Given the description of an element on the screen output the (x, y) to click on. 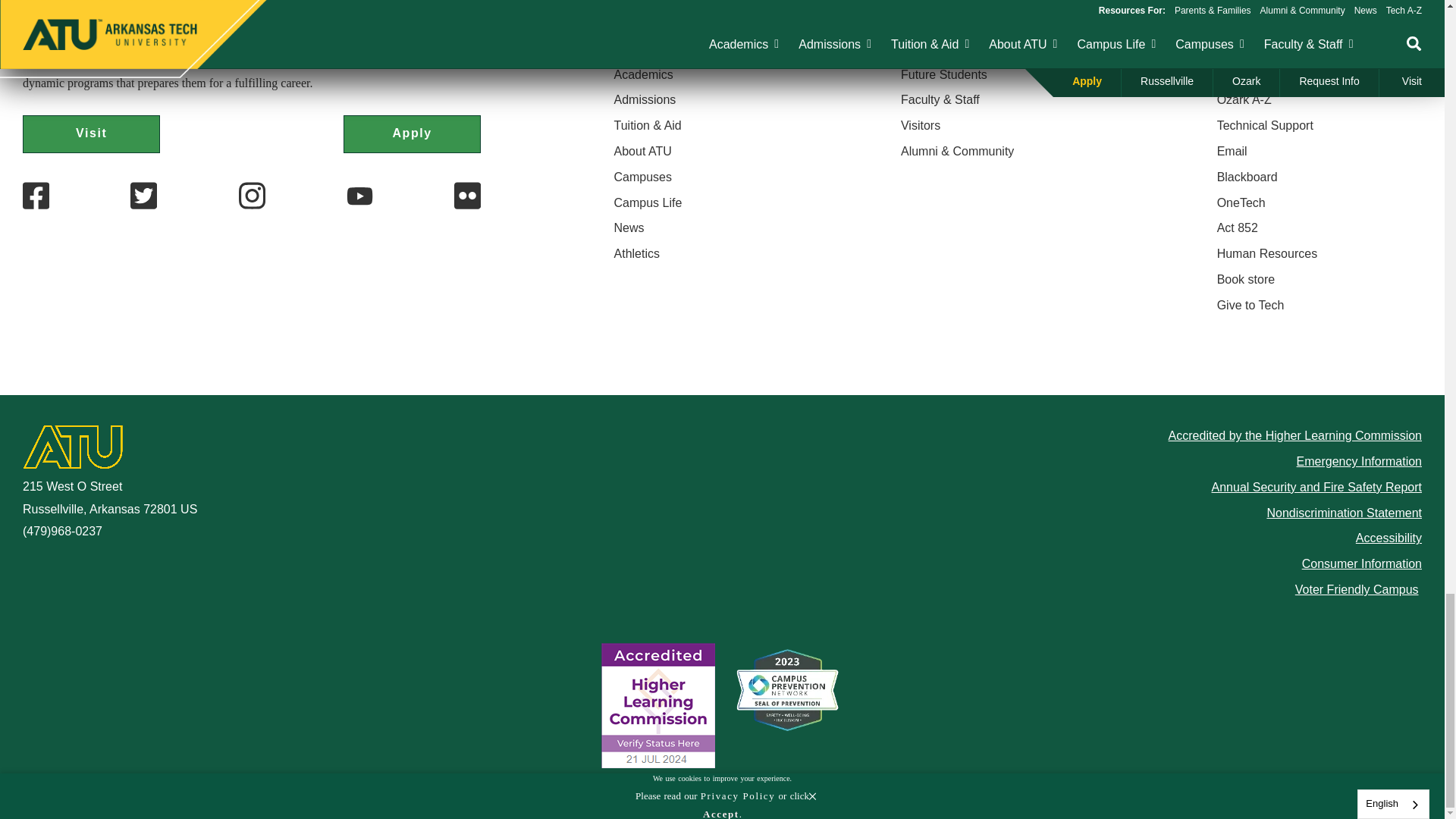
 Accreditation by the Higher Learning Commission (656, 705)
